Given the description of an element on the screen output the (x, y) to click on. 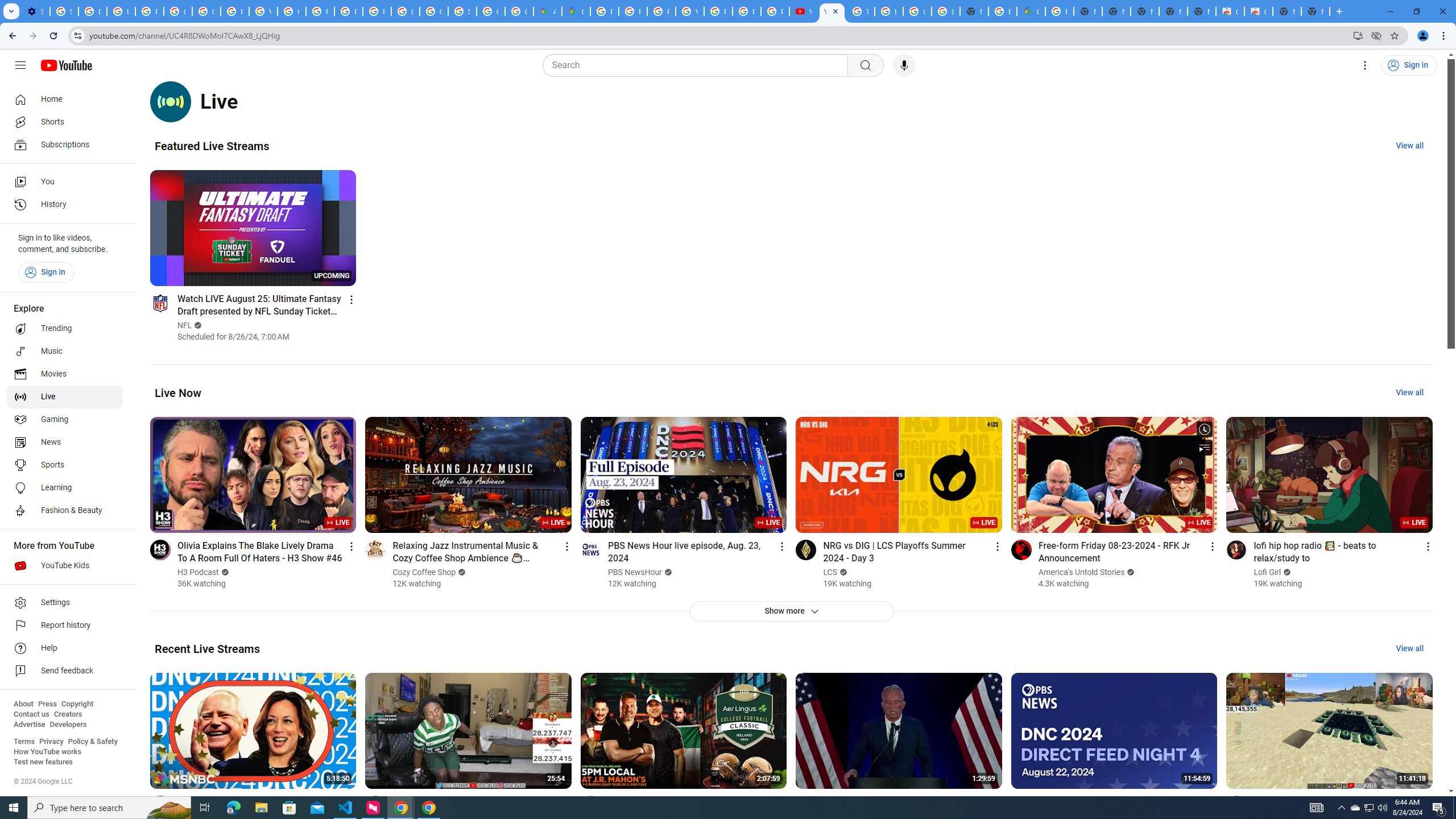
Guide (20, 65)
Classic Blue - Chrome Web Store (1230, 11)
Search with your voice (903, 65)
Sign in - Google Accounts (63, 11)
Verified (1286, 572)
